Given the description of an element on the screen output the (x, y) to click on. 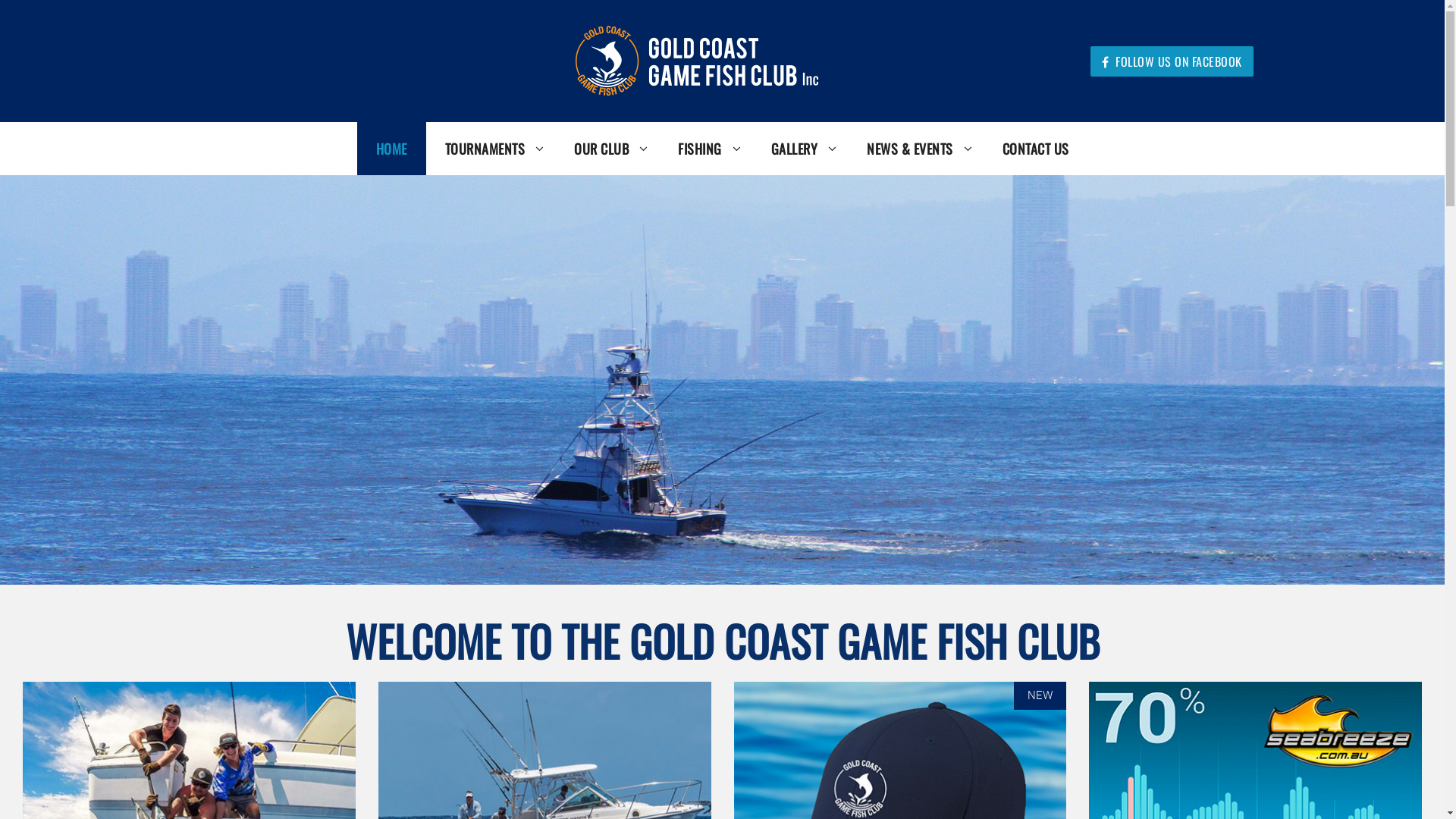
TOURNAMENTS Element type: text (490, 148)
HOME Element type: text (390, 148)
NEWS & EVENTS Element type: text (915, 148)
FISHING Element type: text (705, 148)
  FOLLOW US ON FACEBOOK Element type: text (1171, 60)
GALLERY Element type: text (800, 148)
CONTACT US Element type: text (1034, 148)
OUR CLUB Element type: text (606, 148)
